Given the description of an element on the screen output the (x, y) to click on. 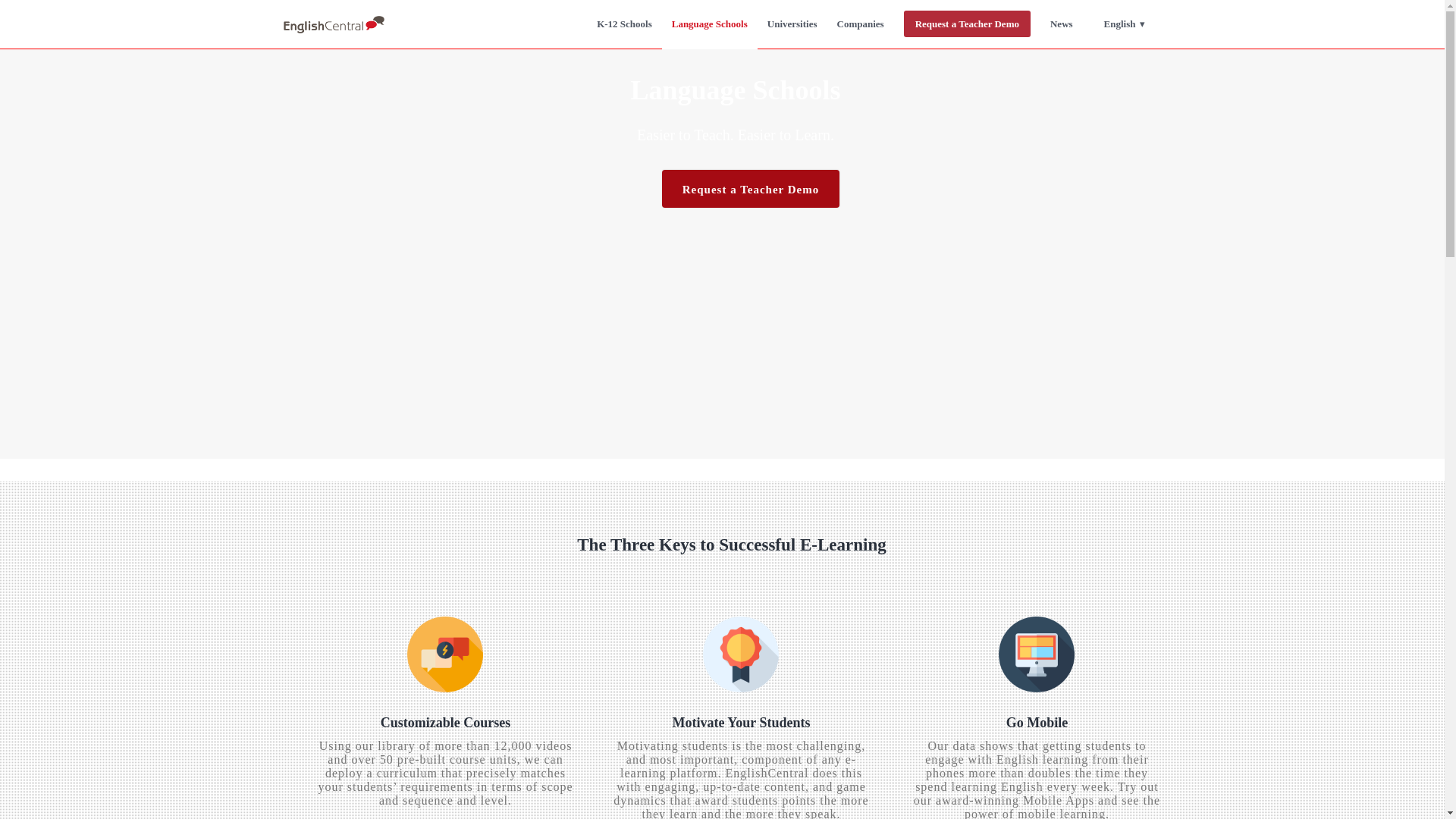
Companies (860, 23)
Universities (792, 23)
Language Schools (709, 24)
Request a Teacher Demo (967, 23)
News (1062, 23)
K-12 Schools (624, 23)
English (1124, 23)
Request a Teacher Demo (751, 188)
